Given the description of an element on the screen output the (x, y) to click on. 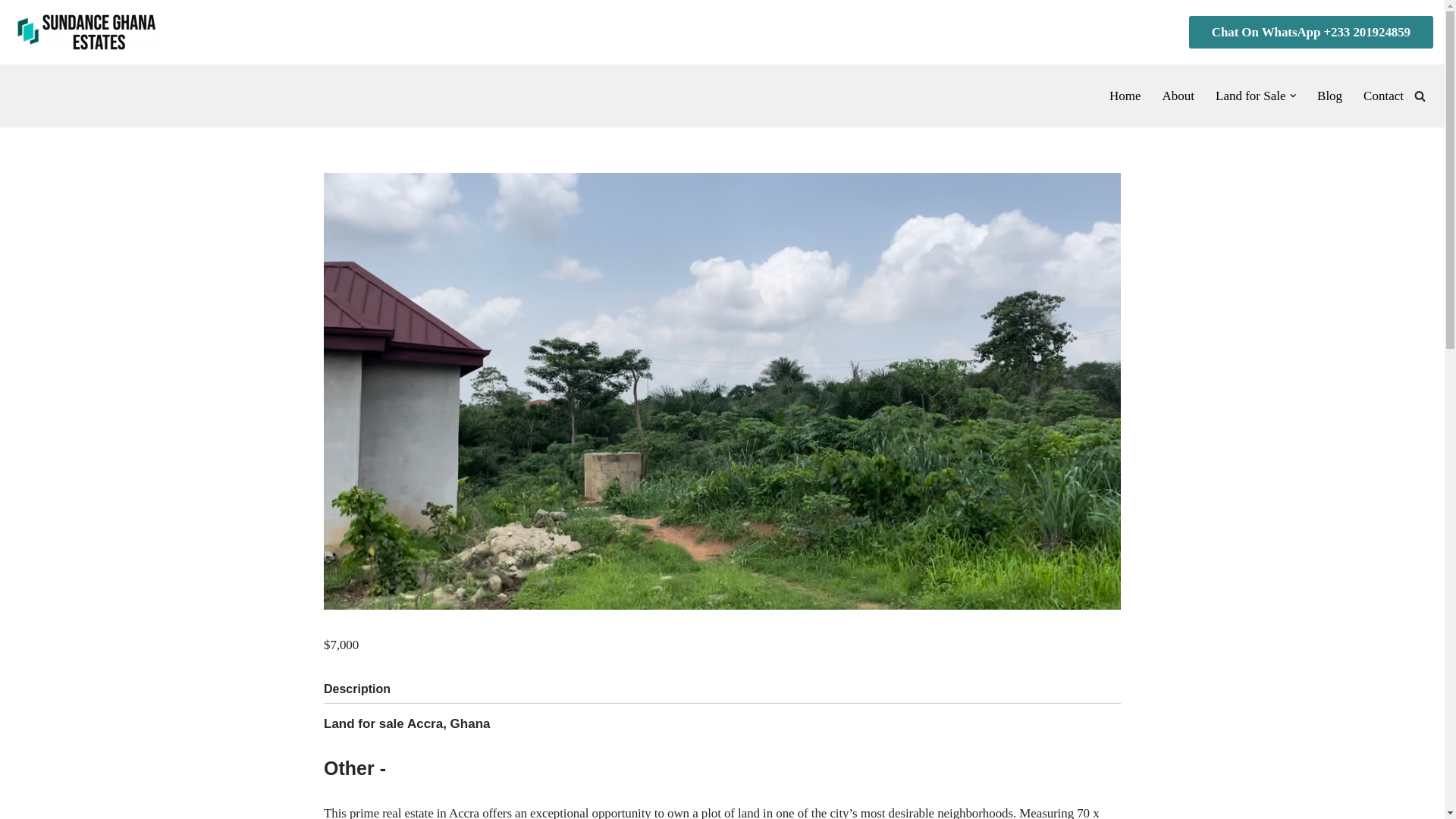
Skip to content (11, 31)
Blog (1329, 95)
Home (1125, 95)
Land for sale in Ghana (87, 31)
Contact (1382, 95)
About (1178, 95)
Land for Sale (1250, 95)
